Given the description of an element on the screen output the (x, y) to click on. 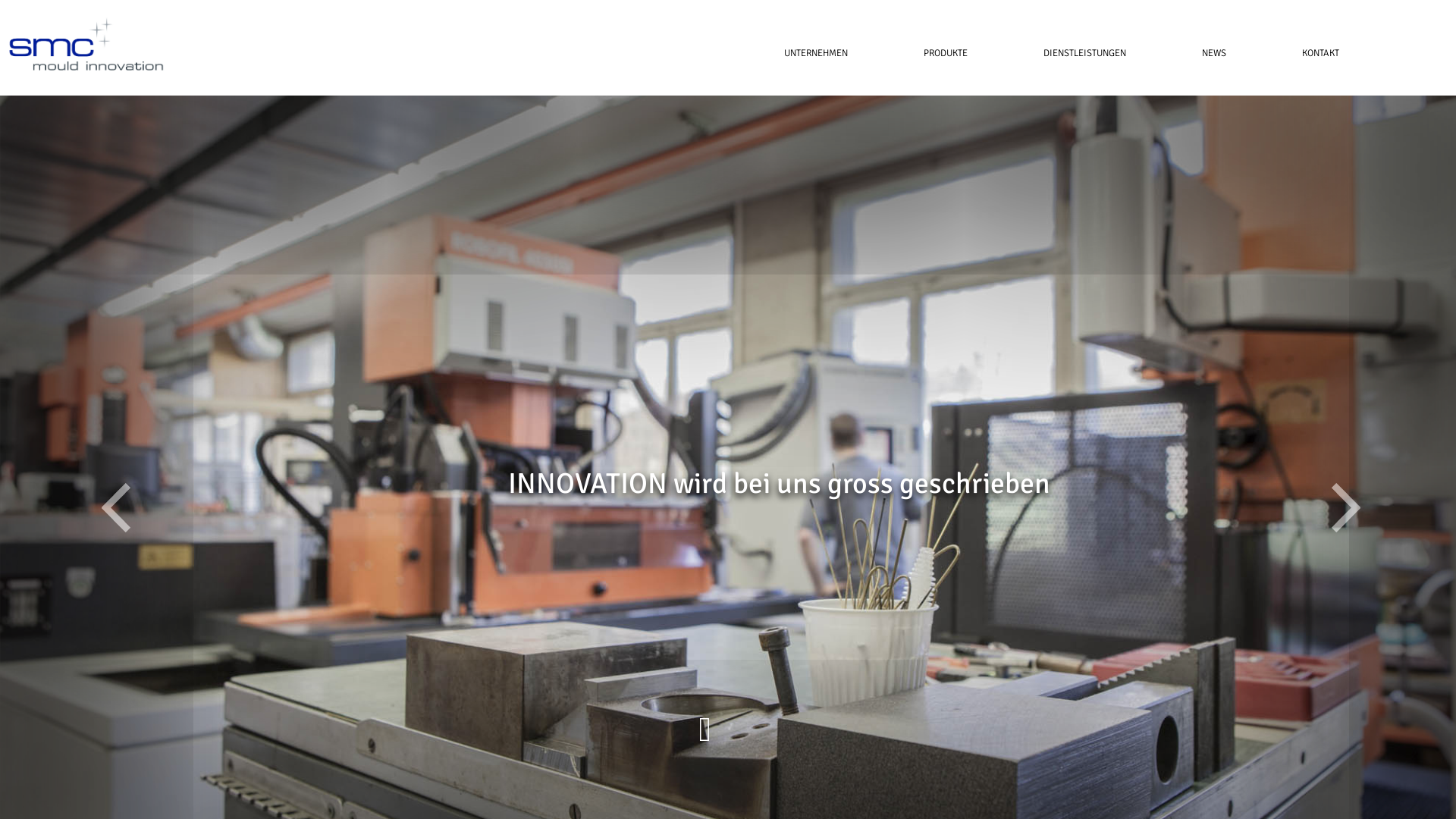
KONTAKT Element type: text (1301, 52)
NEWS Element type: text (1214, 52)
UNTERNEHMEN Element type: text (815, 52)
PRODUKTE Element type: text (945, 52)
DIENSTLEISTUNGEN Element type: text (1084, 52)
